Given the description of an element on the screen output the (x, y) to click on. 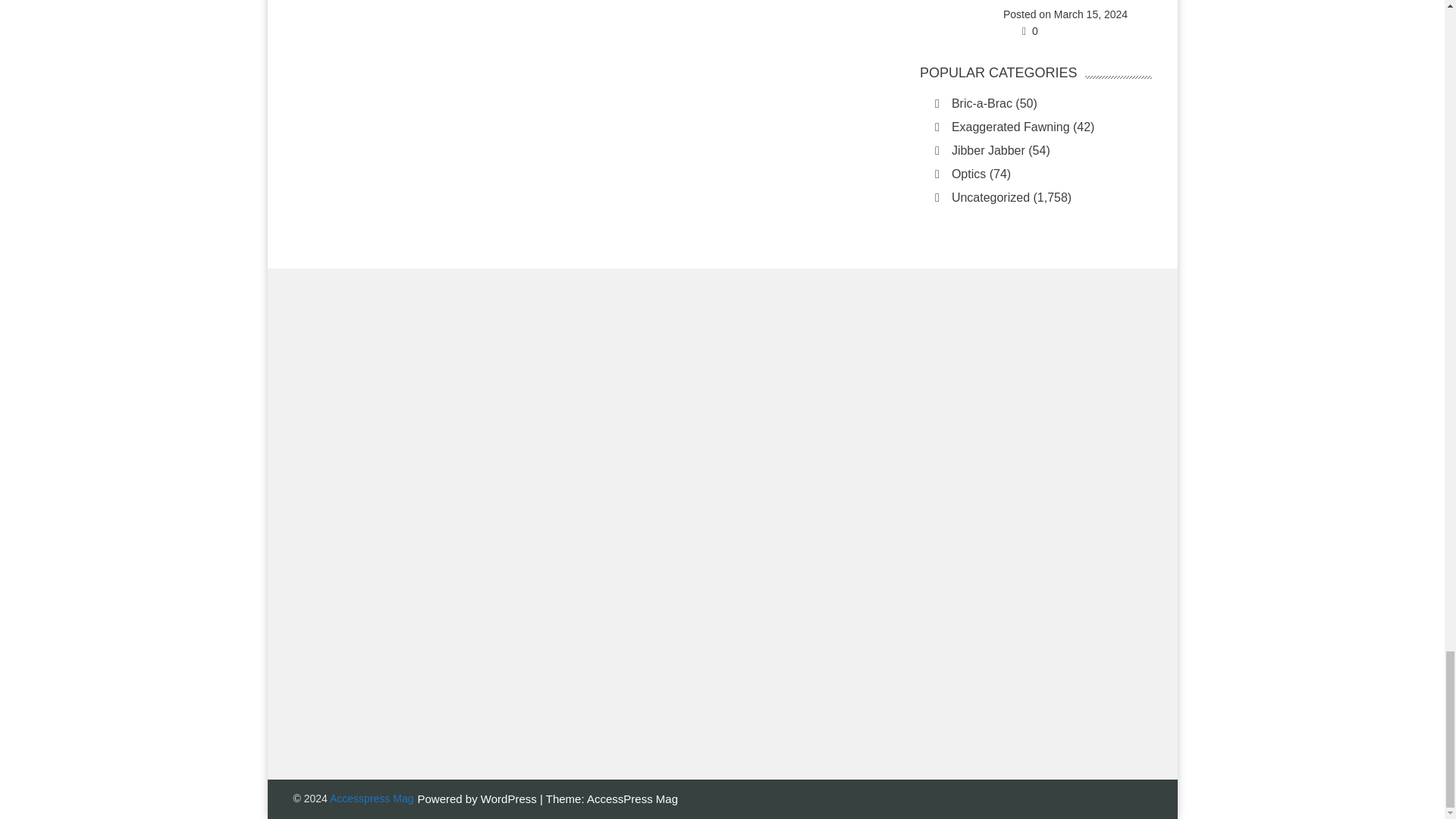
AccessPress Themes (632, 797)
